Given the description of an element on the screen output the (x, y) to click on. 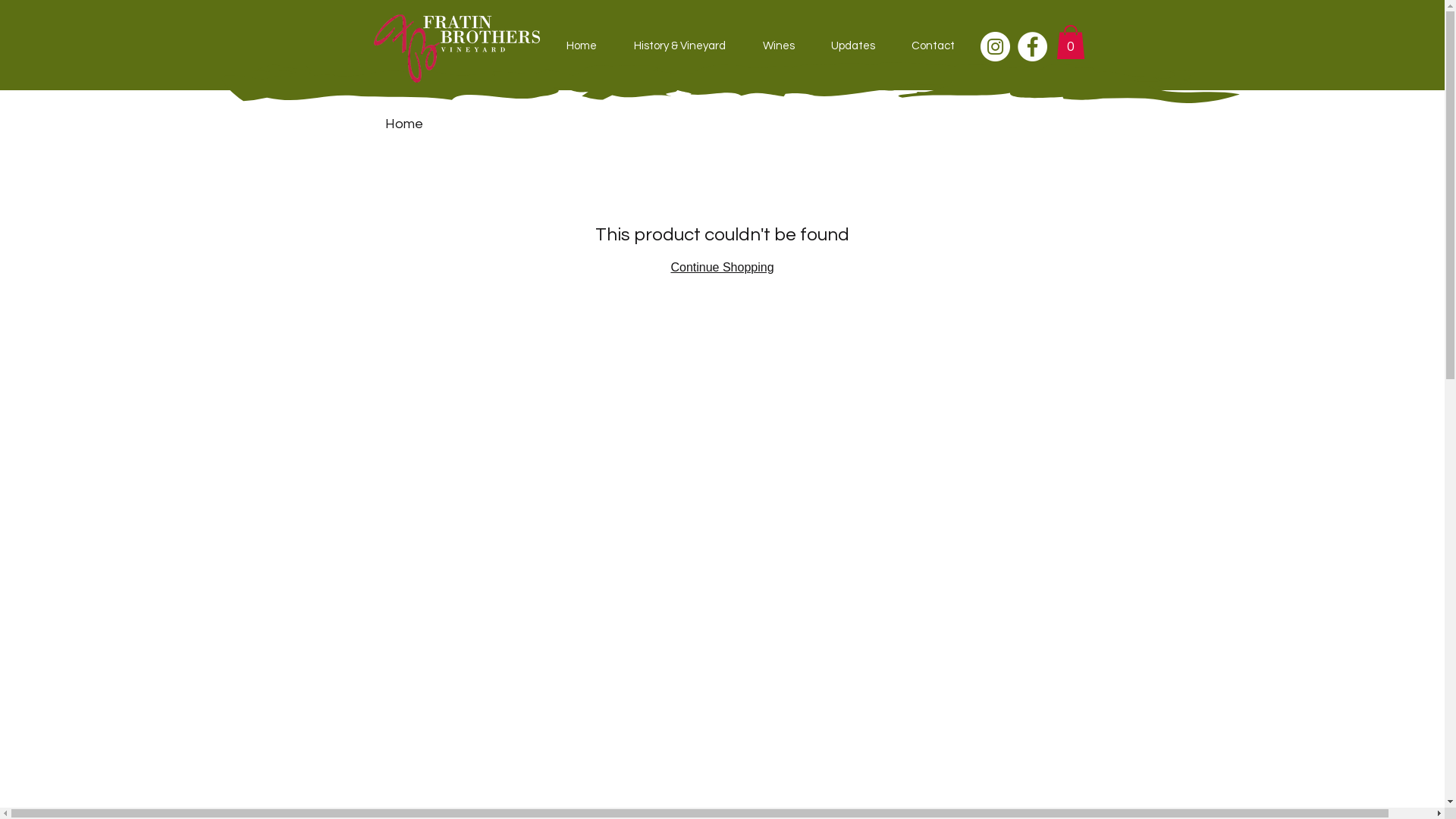
Wines Element type: text (778, 46)
Home Element type: text (581, 46)
Updates Element type: text (852, 46)
Home Element type: text (404, 123)
History & Vineyard Element type: text (679, 46)
0 Element type: text (1069, 42)
Contact Element type: text (932, 46)
Continue Shopping Element type: text (721, 266)
